Given the description of an element on the screen output the (x, y) to click on. 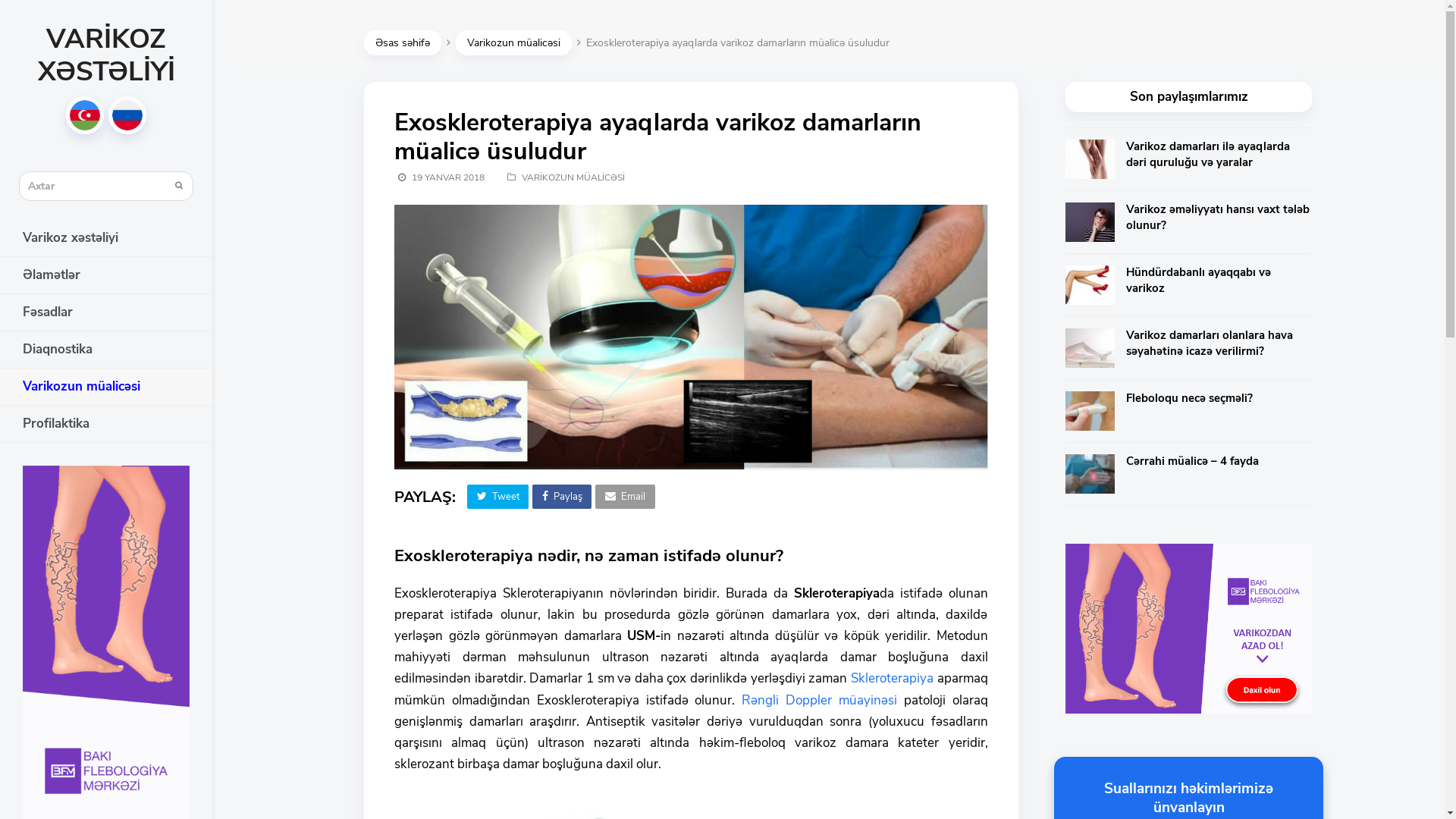
Email Element type: text (624, 496)
Tweet Element type: text (497, 496)
Enlarge Image Element type: hover (691, 460)
Submit Element type: text (178, 185)
Profilaktika Element type: text (106, 423)
Diaqnostika Element type: text (106, 349)
Skleroterapiya Element type: text (891, 678)
